Given the description of an element on the screen output the (x, y) to click on. 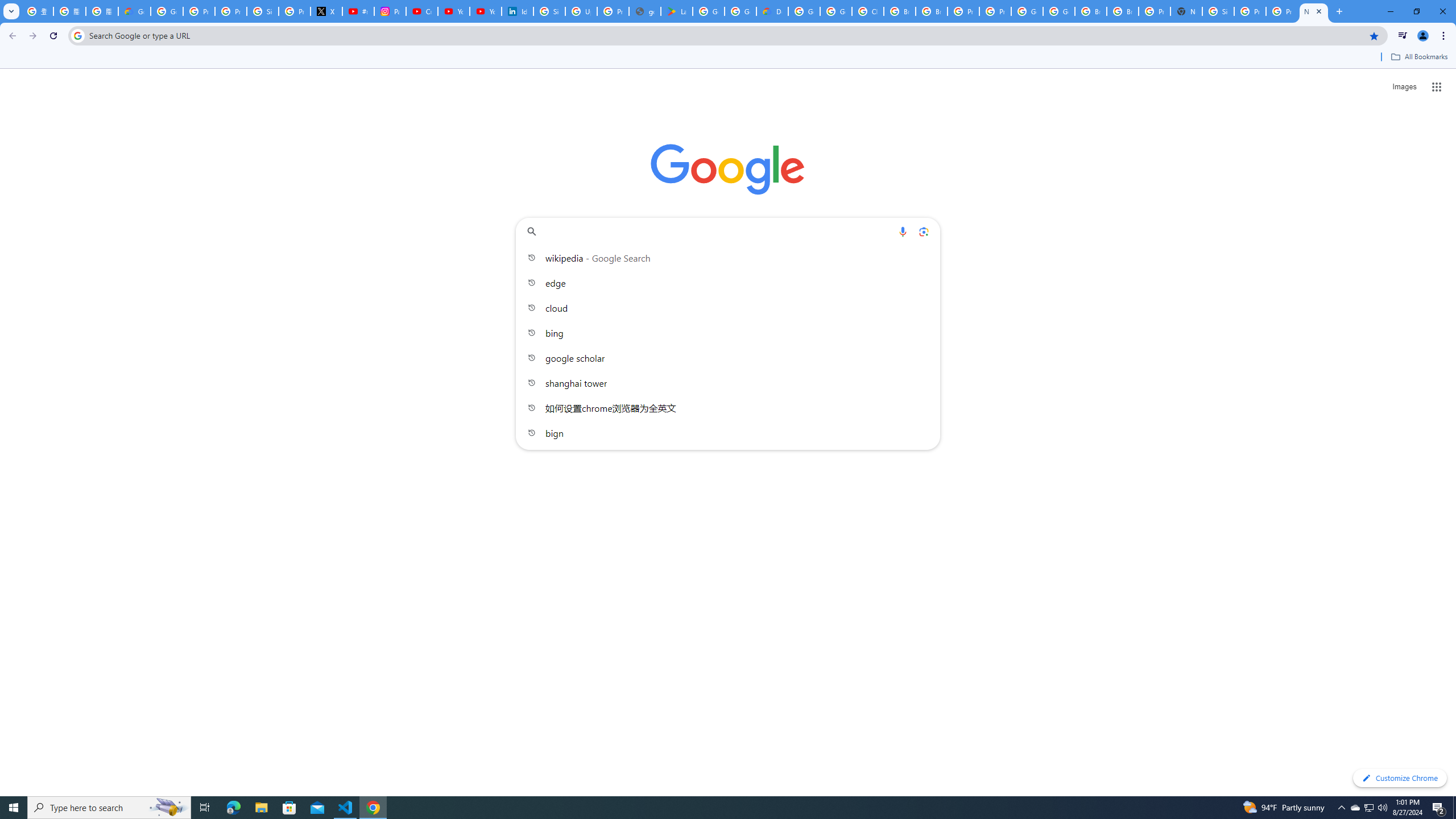
Browse Chrome as a guest - Computer - Google Chrome Help (899, 11)
Identity verification via Persona | LinkedIn Help (517, 11)
#nbabasketballhighlights - YouTube (358, 11)
Browse Chrome as a guest - Computer - Google Chrome Help (1123, 11)
Sign in - Google Accounts (549, 11)
Google Cloud Platform (1059, 11)
All Bookmarks (1418, 56)
Privacy Help Center - Policies Help (230, 11)
Sign in - Google Accounts (262, 11)
